Given the description of an element on the screen output the (x, y) to click on. 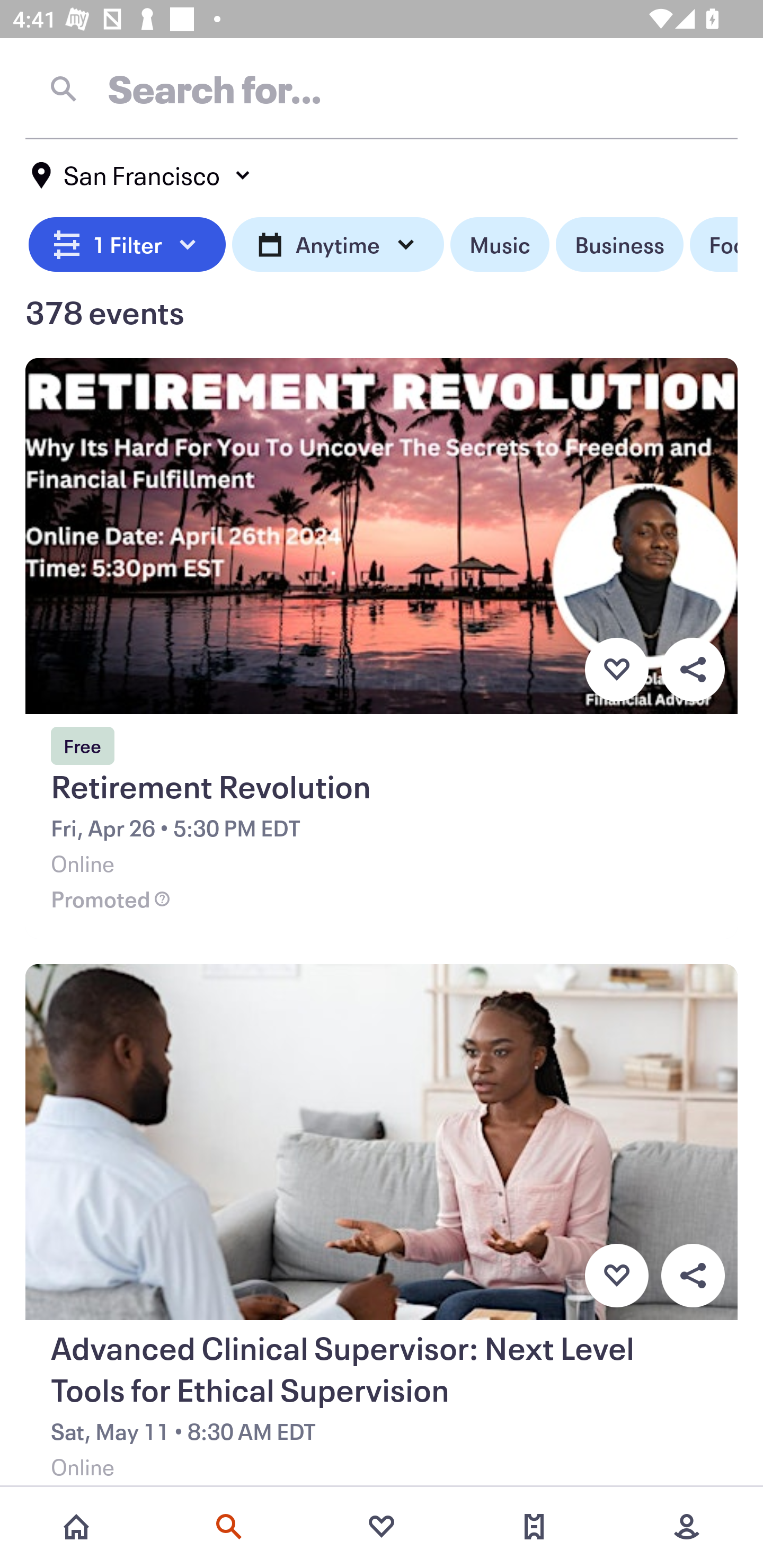
Search for… (381, 88)
San Francisco (141, 175)
1 Filter (126, 244)
Anytime (337, 244)
Music (499, 244)
Business (619, 244)
Favorite button (616, 669)
Overflow menu button (692, 669)
Favorite button (616, 1275)
Overflow menu button (692, 1275)
Home (76, 1526)
Search events (228, 1526)
Favorites (381, 1526)
Tickets (533, 1526)
More (686, 1526)
